Given the description of an element on the screen output the (x, y) to click on. 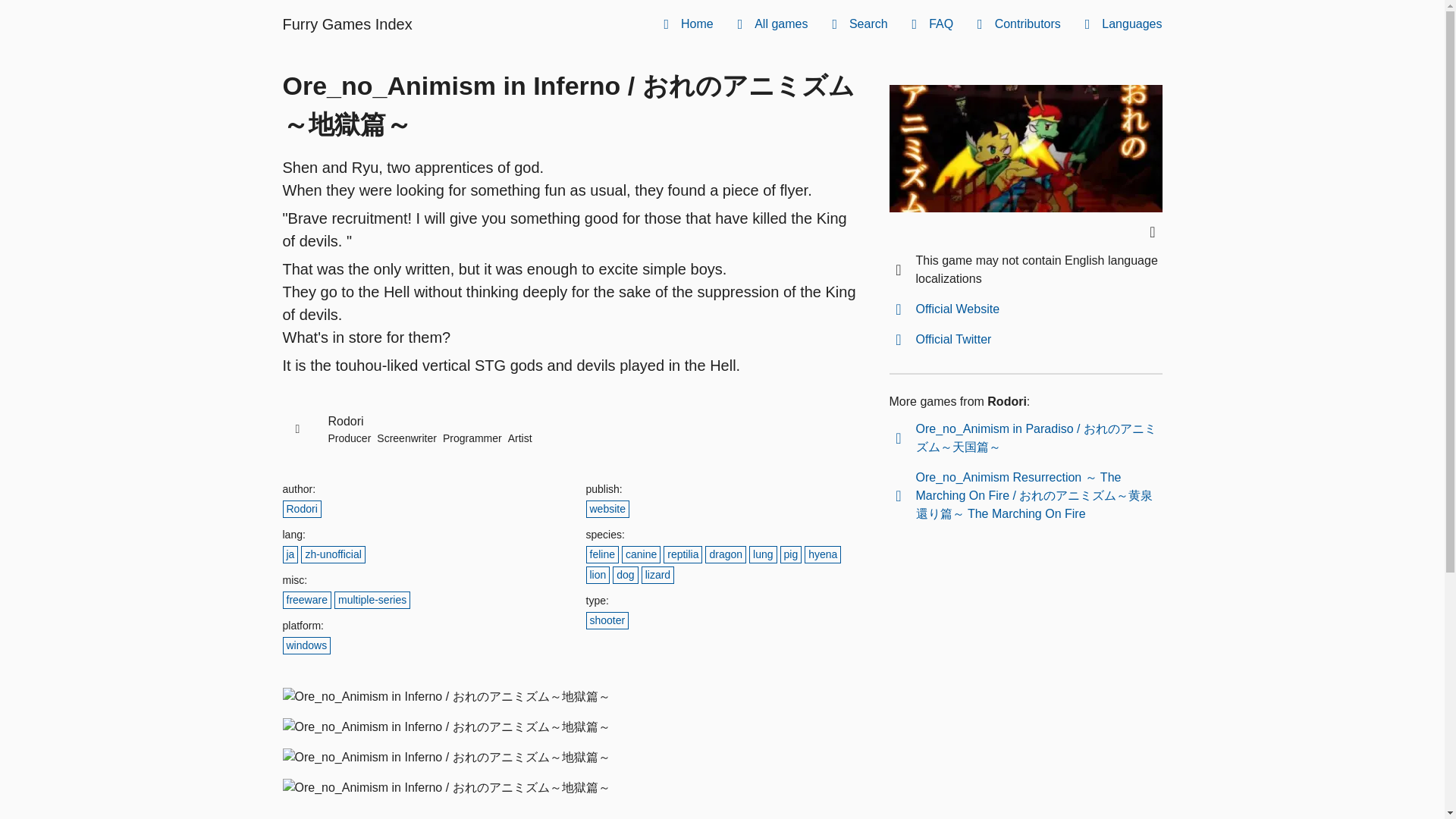
Contributors (1016, 24)
lion (597, 574)
freeware (306, 600)
hyena (823, 554)
shooter (606, 620)
lung (762, 554)
dragon (724, 554)
pig (791, 554)
canine (641, 554)
Rodori (301, 508)
